Given the description of an element on the screen output the (x, y) to click on. 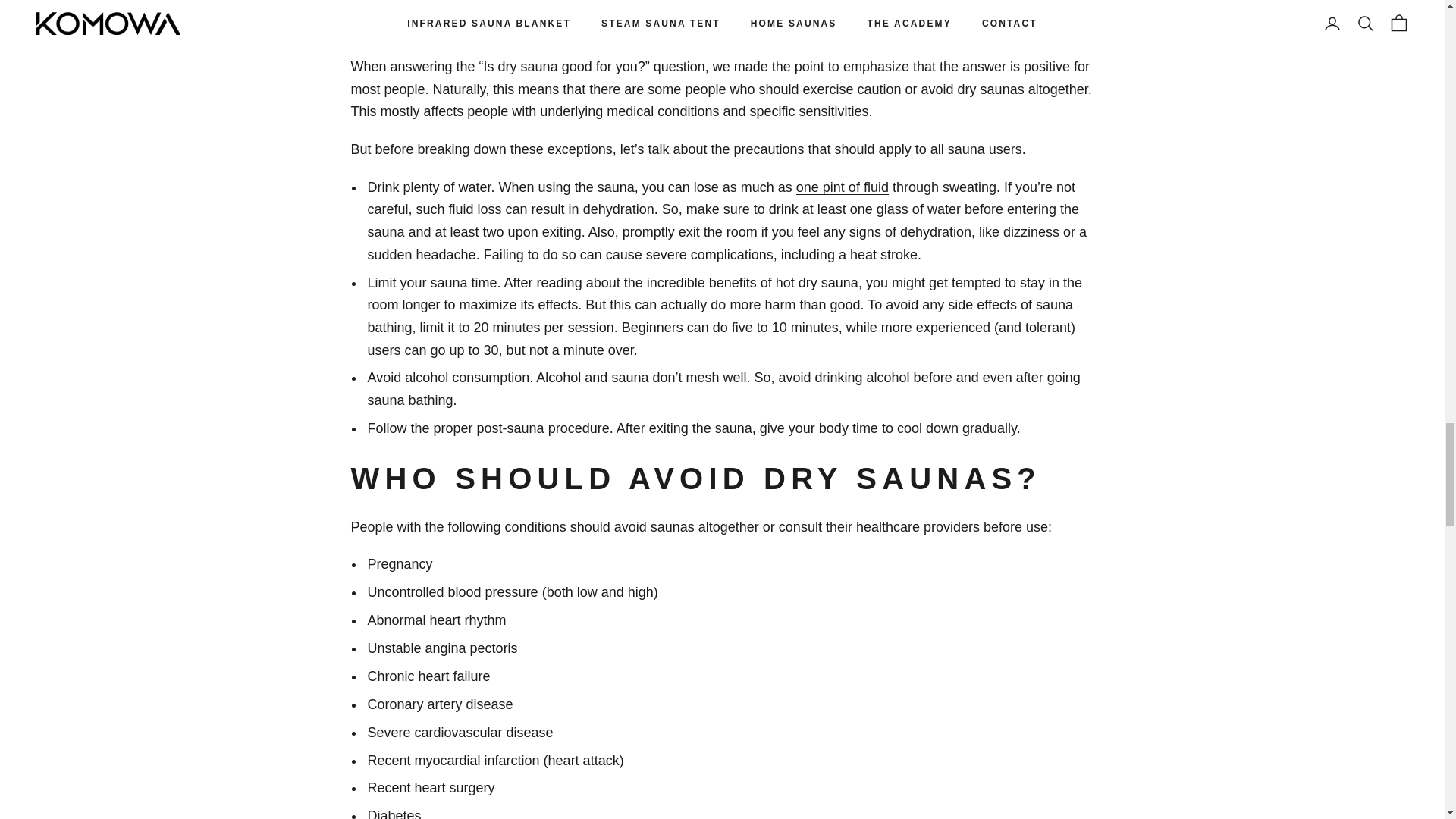
one pint of fluid (842, 186)
